Given the description of an element on the screen output the (x, y) to click on. 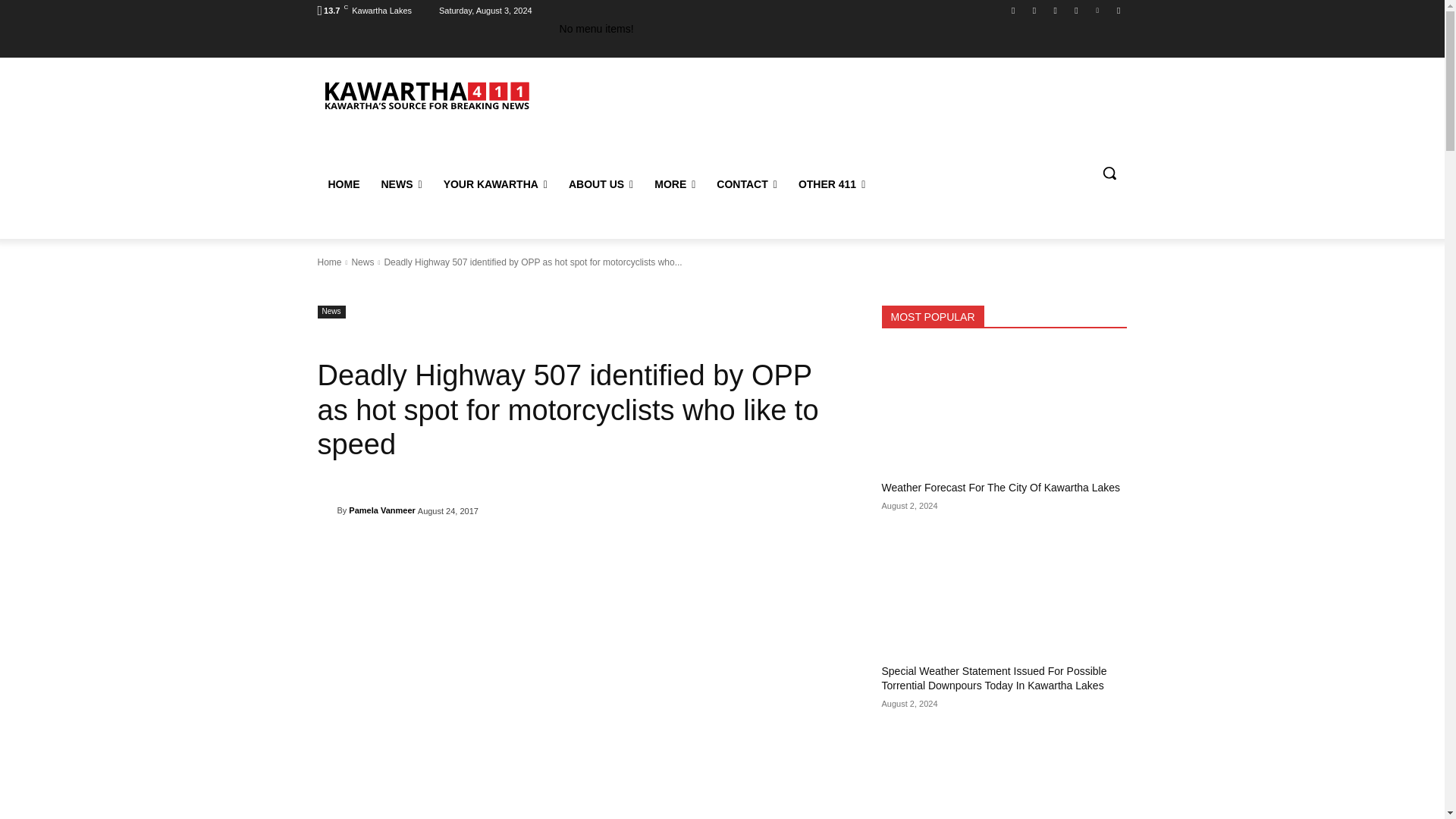
Paypal (1055, 9)
Kawartha 411 News (425, 94)
Twitter (1097, 9)
Facebook (1013, 9)
Instagram (1034, 9)
Youtube (1117, 9)
Telegram (1075, 9)
